Given the description of an element on the screen output the (x, y) to click on. 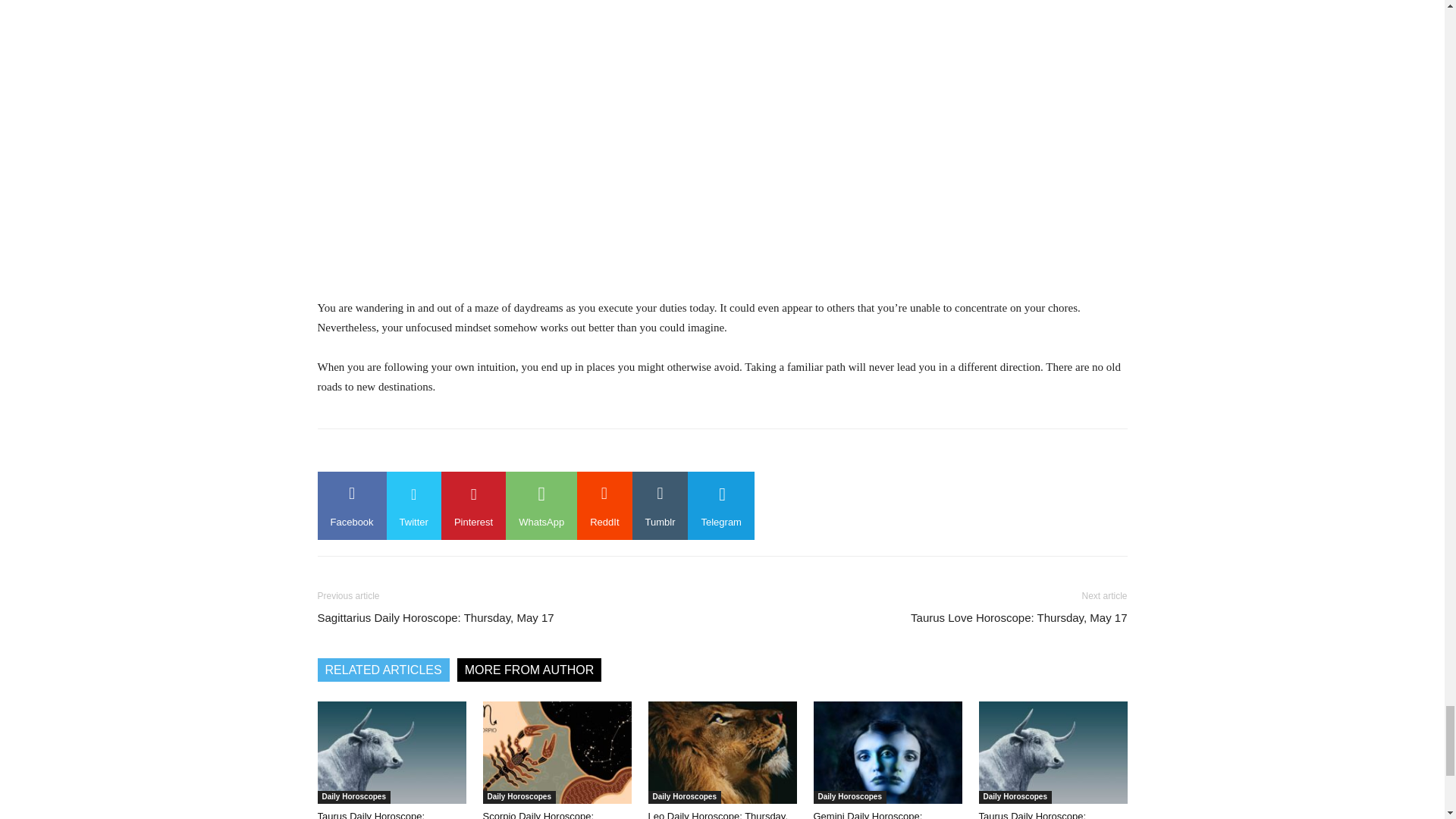
bottomFacebookLike (430, 453)
Facebook (351, 505)
